Given the description of an element on the screen output the (x, y) to click on. 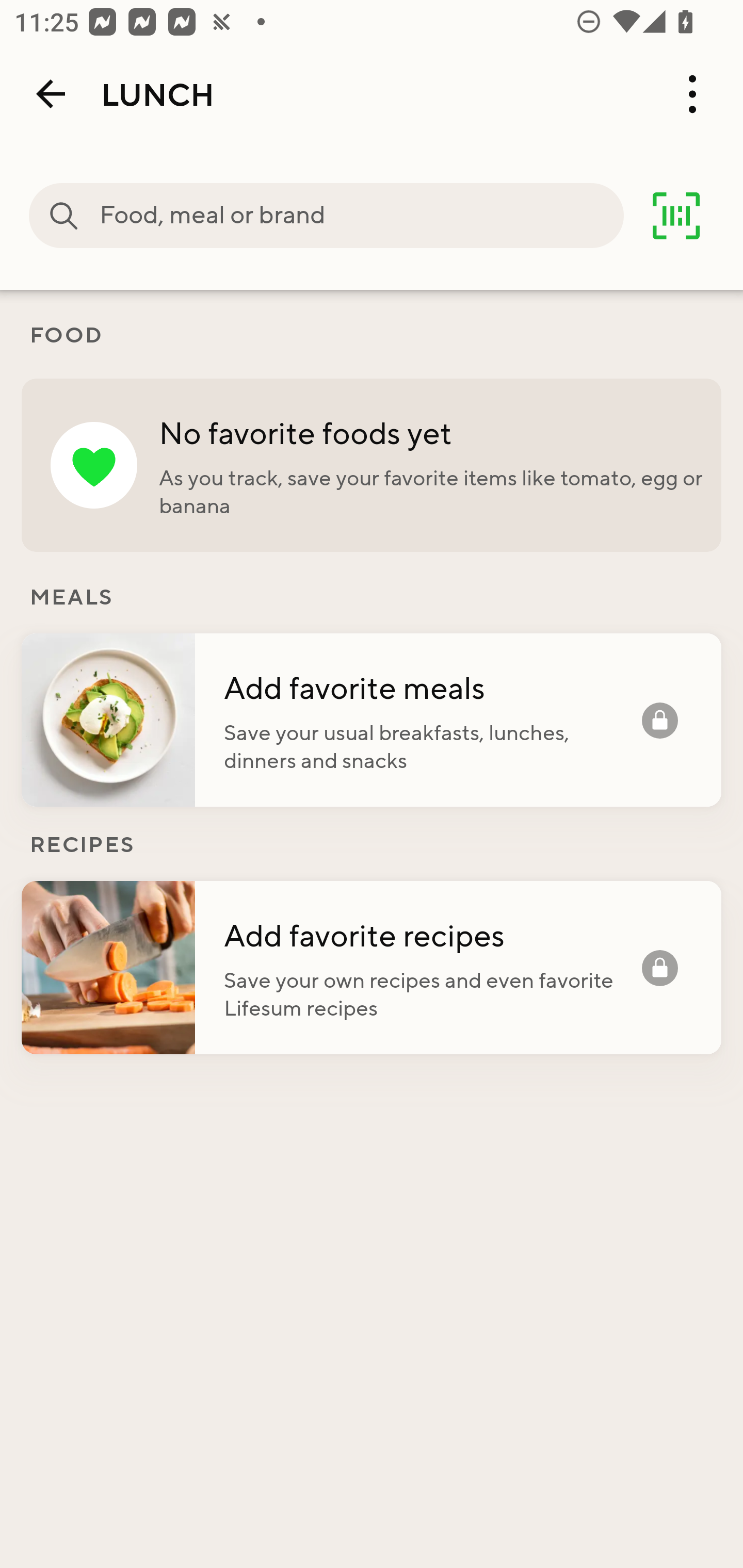
Back (50, 93)
Food, meal or brand (63, 215)
Food, meal or brand (361, 215)
Add favorite meals (432, 686)
Add favorite recipes (432, 934)
